Given the description of an element on the screen output the (x, y) to click on. 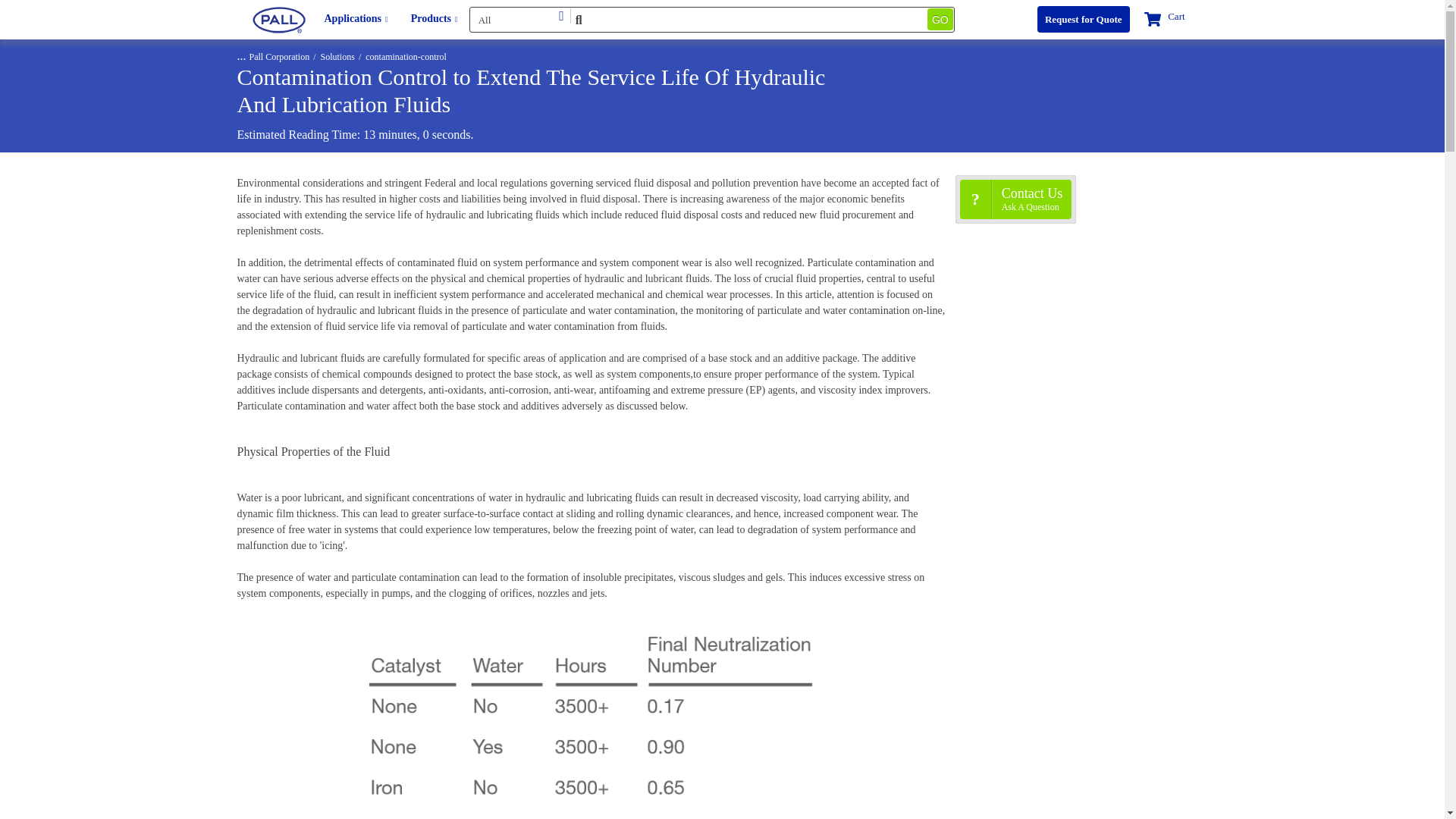
Products (433, 19)
GO (940, 19)
Applications (355, 19)
